Given the description of an element on the screen output the (x, y) to click on. 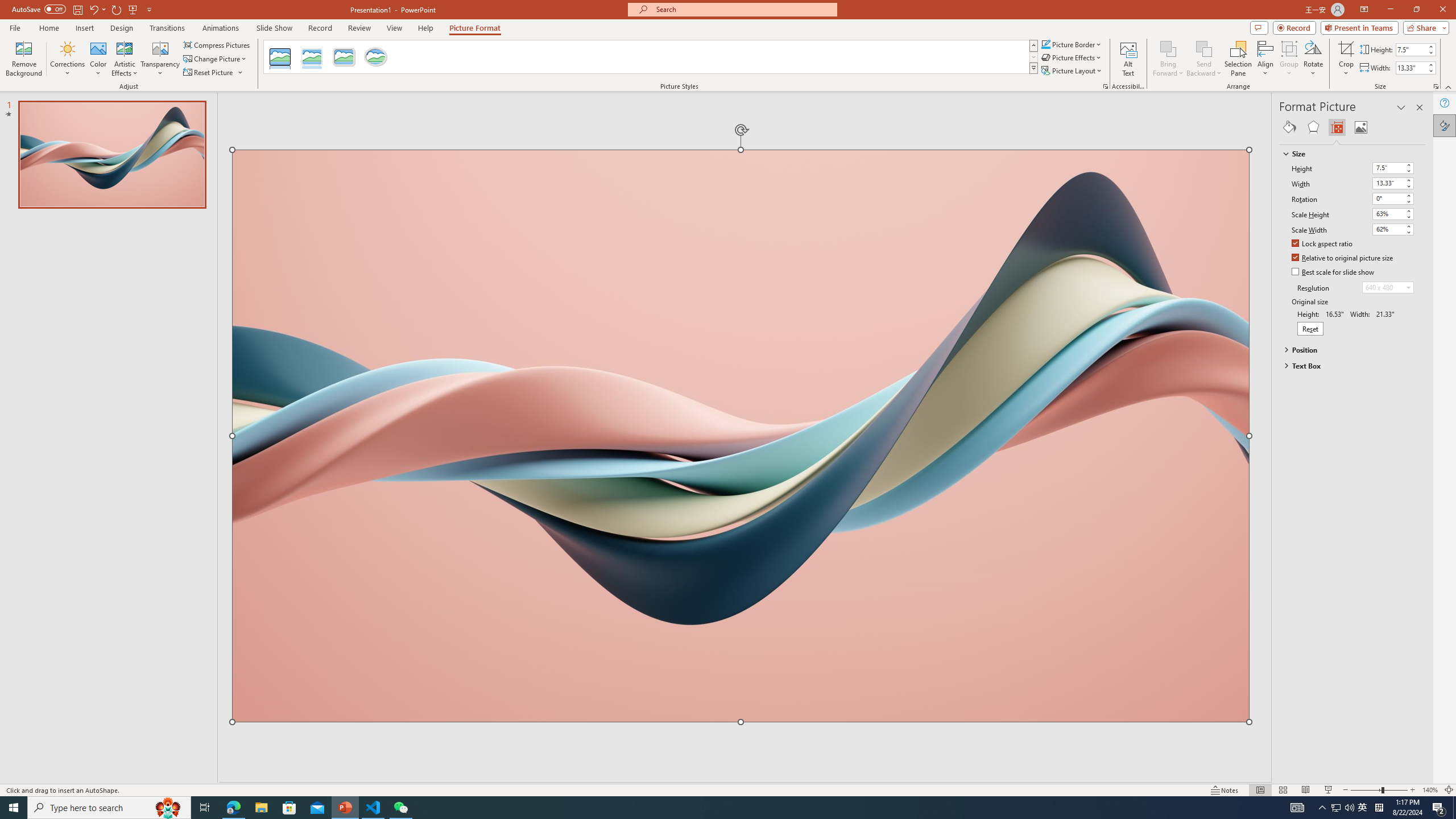
Width (1393, 183)
Compress Pictures... (217, 44)
Picture Format (475, 28)
Bring Forward (1168, 58)
Crop (1345, 48)
Best scale for slide show (1333, 272)
Format Picture (1444, 125)
Corrections (67, 58)
Shape Height (1410, 49)
